Given the description of an element on the screen output the (x, y) to click on. 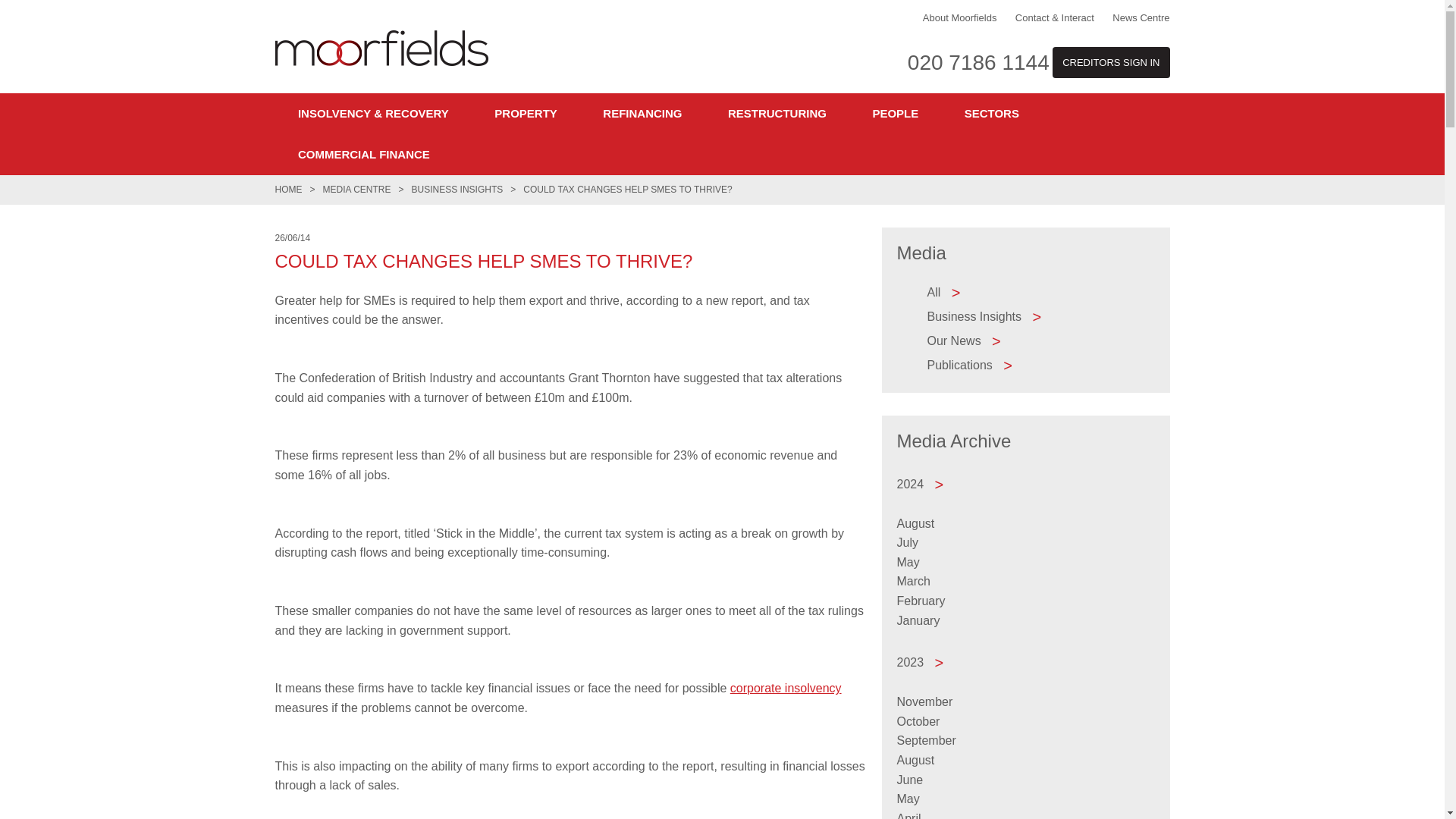
PEOPLE (895, 113)
SECTORS (991, 113)
RESTRUCTURING (777, 113)
REFINANCING (642, 113)
CREDITORS SIGN IN (1110, 62)
PROPERTY (525, 113)
About Moorfields (960, 17)
News Centre (1140, 17)
